Given the description of an element on the screen output the (x, y) to click on. 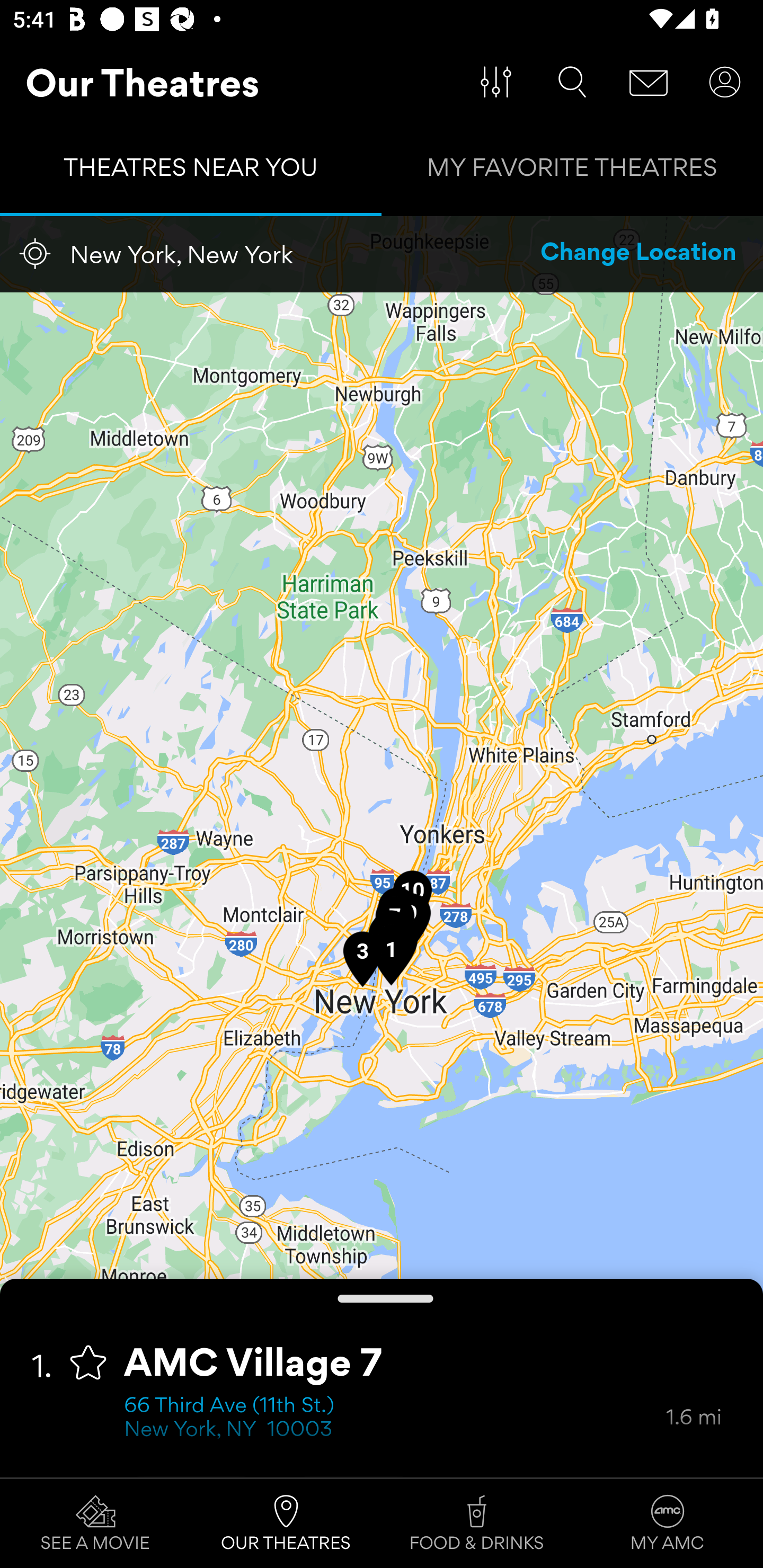
Filter Theatres (495, 82)
Search (572, 82)
Message Center (648, 82)
User Account (724, 82)
THEATRES NEAR YOU
Tab 1 of 2 (190, 171)
MY FAVORITE THEATRES
Tab 2 of 2 (572, 171)
Change Location (639, 253)
66 Third Ave (11th St.)  
New York, NY  10003 (394, 1418)
SEE A MOVIE
Tab 1 of 4 (95, 1523)
OUR THEATRES
Tab 2 of 4 (285, 1523)
FOOD & DRINKS
Tab 3 of 4 (476, 1523)
MY AMC
Tab 4 of 4 (667, 1523)
